Given the description of an element on the screen output the (x, y) to click on. 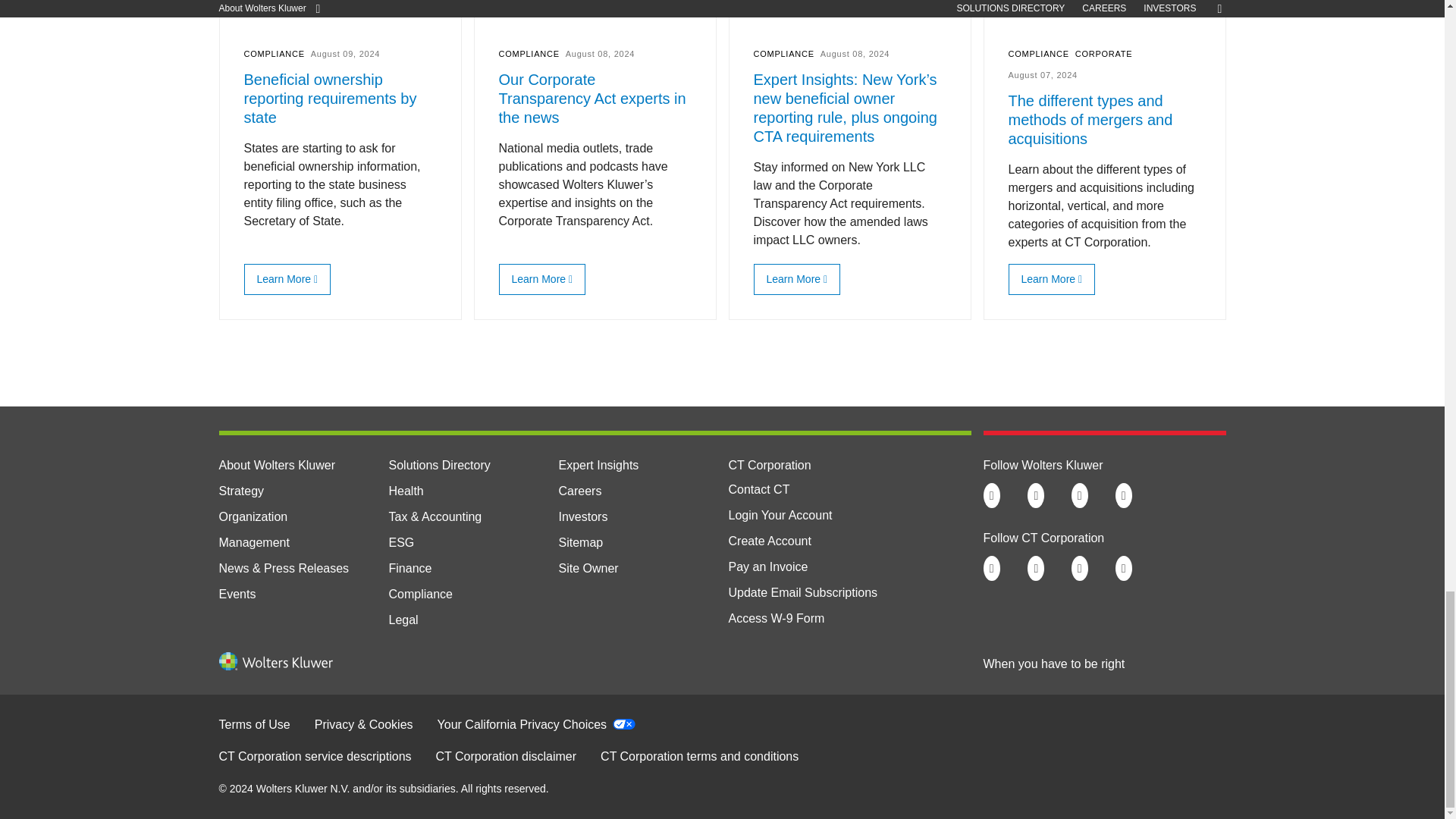
WK Logo (274, 660)
The different types and methods of mergers and acquisitions (1047, 278)
Beneficial ownership reporting requirements by state (283, 278)
Site Owner (587, 567)
Wolters Kluwer Logo (274, 666)
Our Corporate Transparency Act experts in the news (538, 278)
Newsroom (283, 567)
ESG (400, 542)
